Given the description of an element on the screen output the (x, y) to click on. 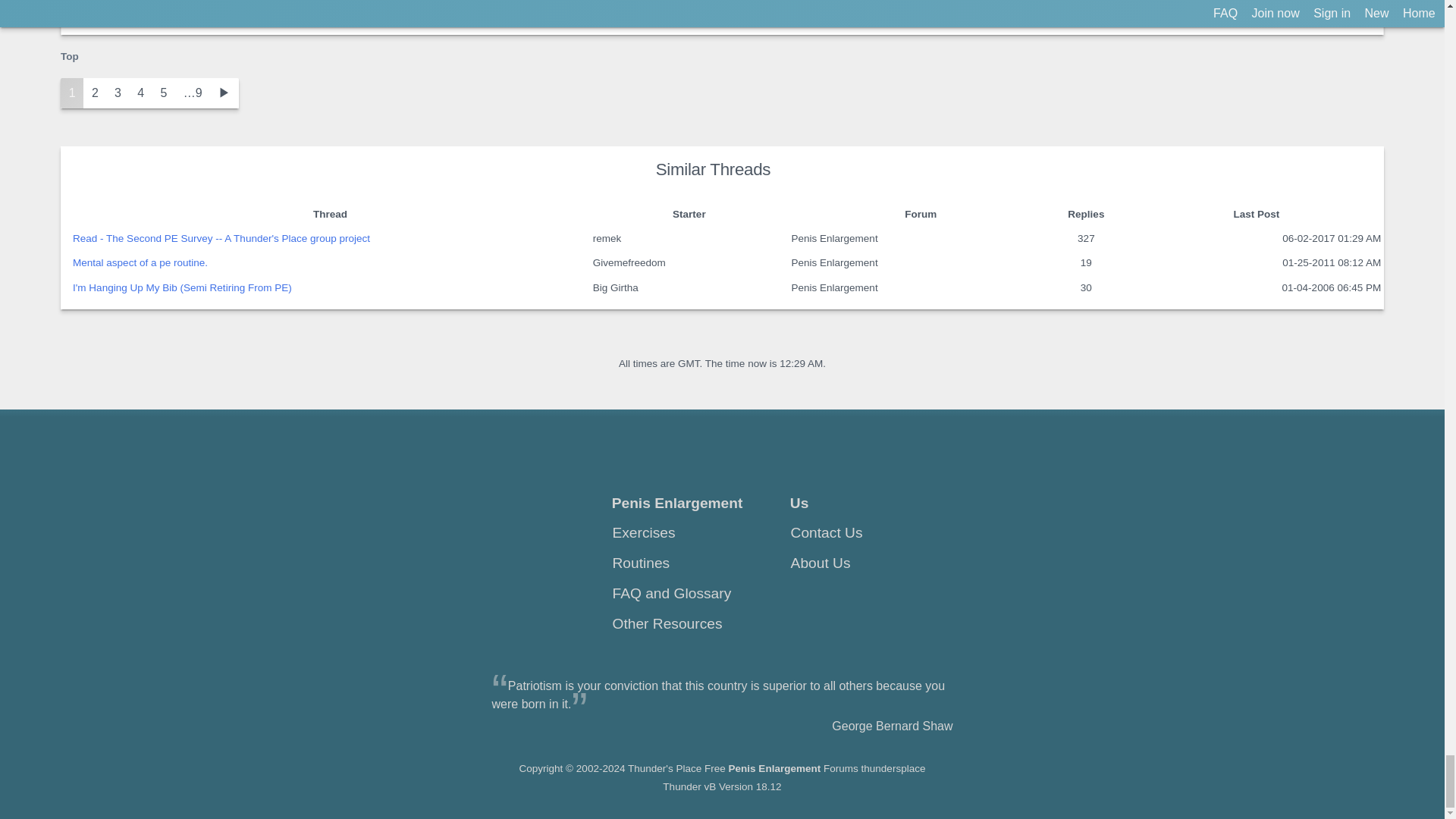
Top (69, 55)
